Given the description of an element on the screen output the (x, y) to click on. 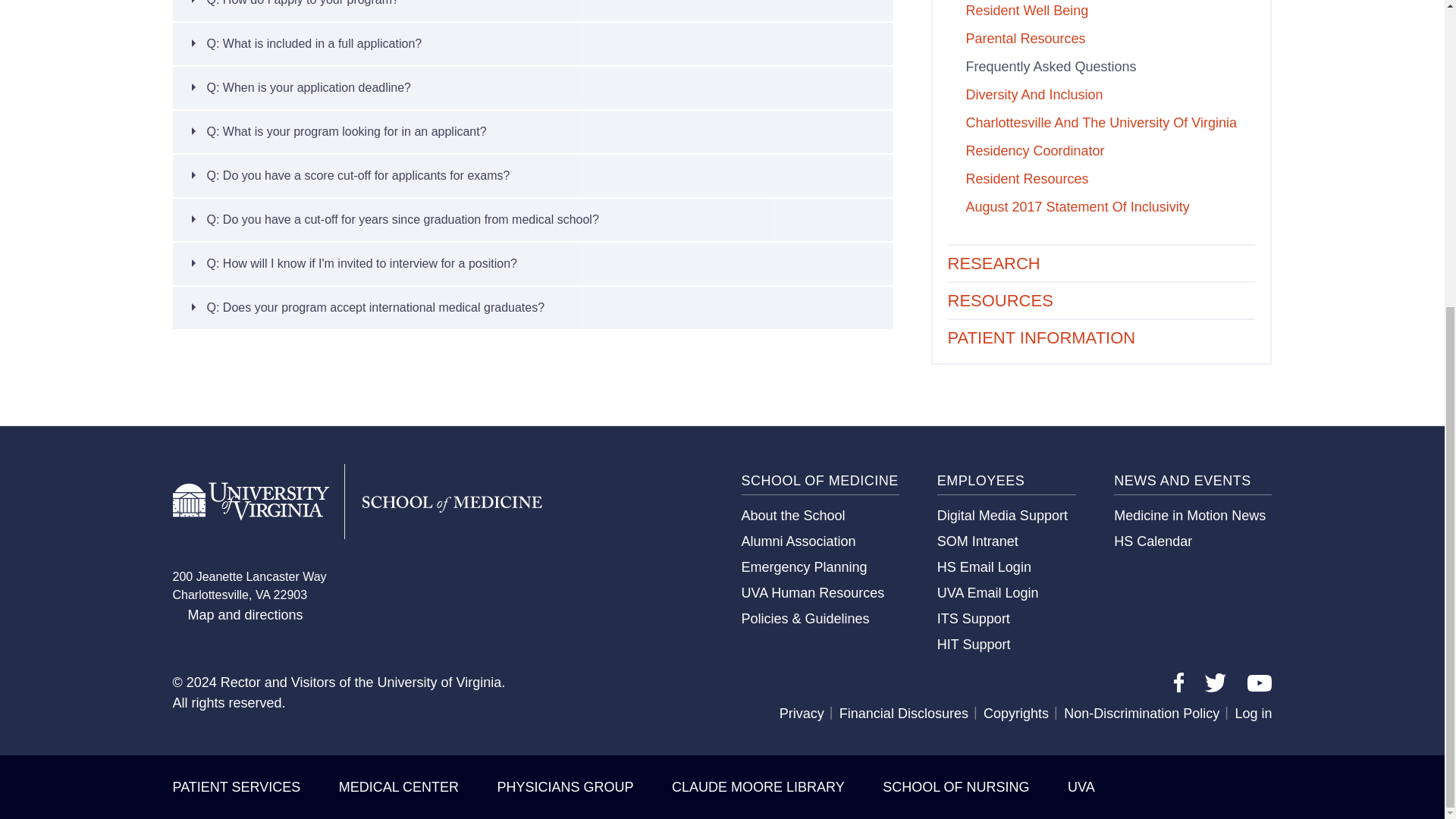
Twitter Profile (1215, 687)
youtube (1259, 682)
twitter (1215, 682)
